Given the description of an element on the screen output the (x, y) to click on. 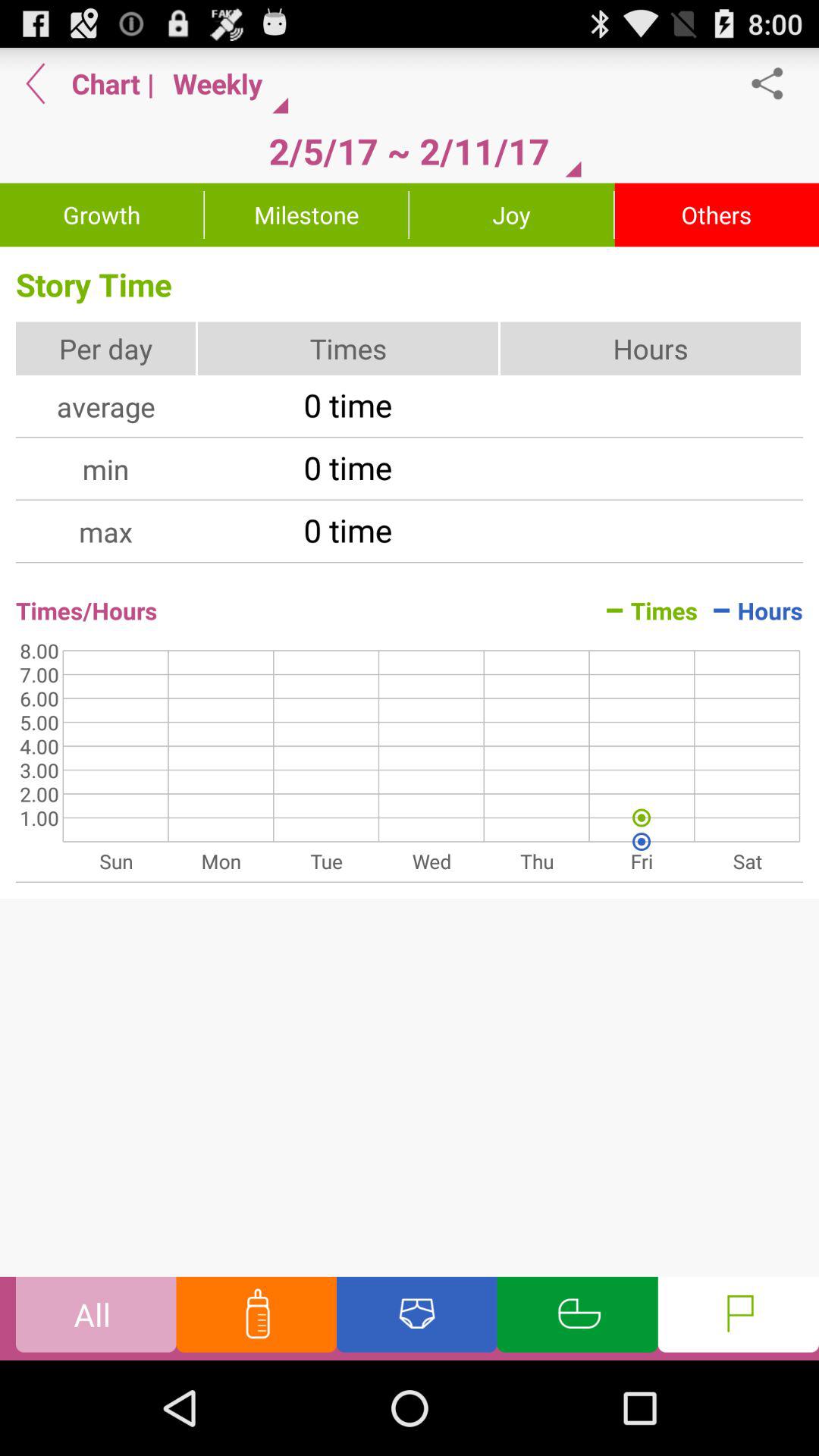
choose the joy button (511, 214)
